Given the description of an element on the screen output the (x, y) to click on. 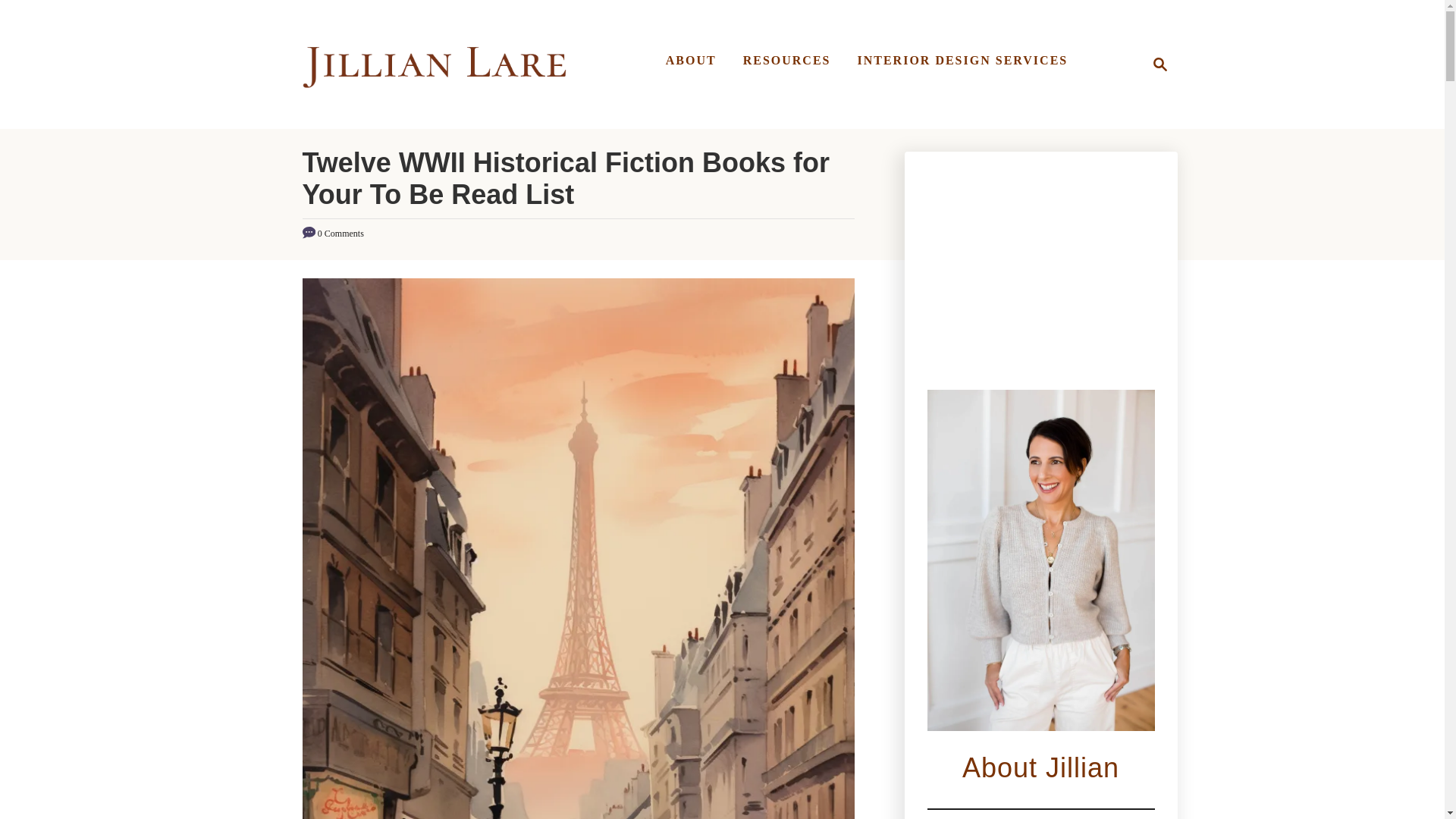
INTERIOR DESIGN SERVICES (961, 60)
Magnifying Glass (1160, 64)
Interior Designer Des Moines Jillian Lare (433, 64)
RESOURCES (1155, 64)
ABOUT (786, 60)
